Given the description of an element on the screen output the (x, y) to click on. 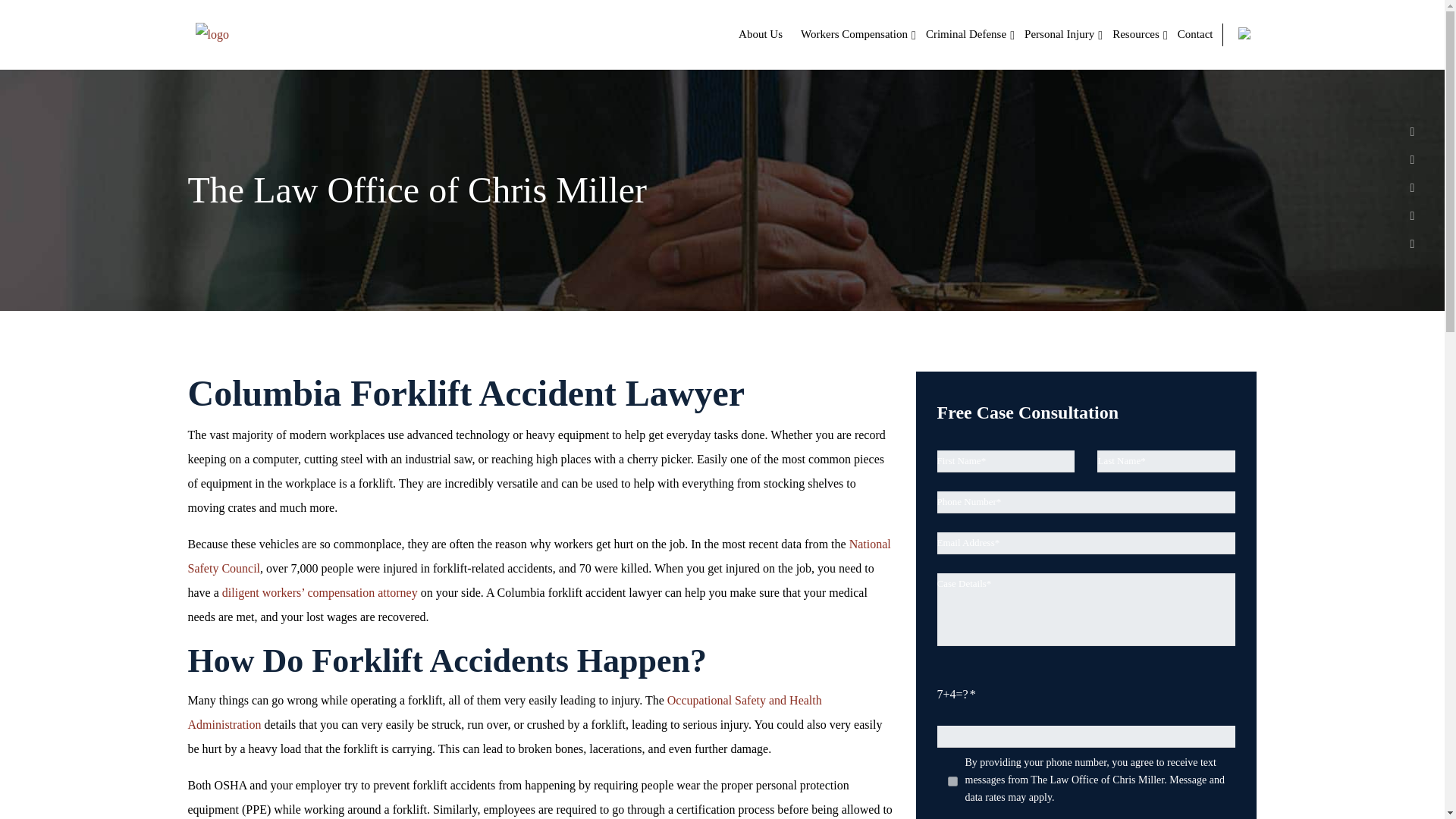
Workers Compensation (853, 34)
Tictok (1411, 242)
Instagram (1411, 214)
Personal Injury (1059, 34)
Criminal Defense (966, 34)
Linkedin (1411, 158)
Facebook (1411, 130)
Youtube (1411, 187)
